Given the description of an element on the screen output the (x, y) to click on. 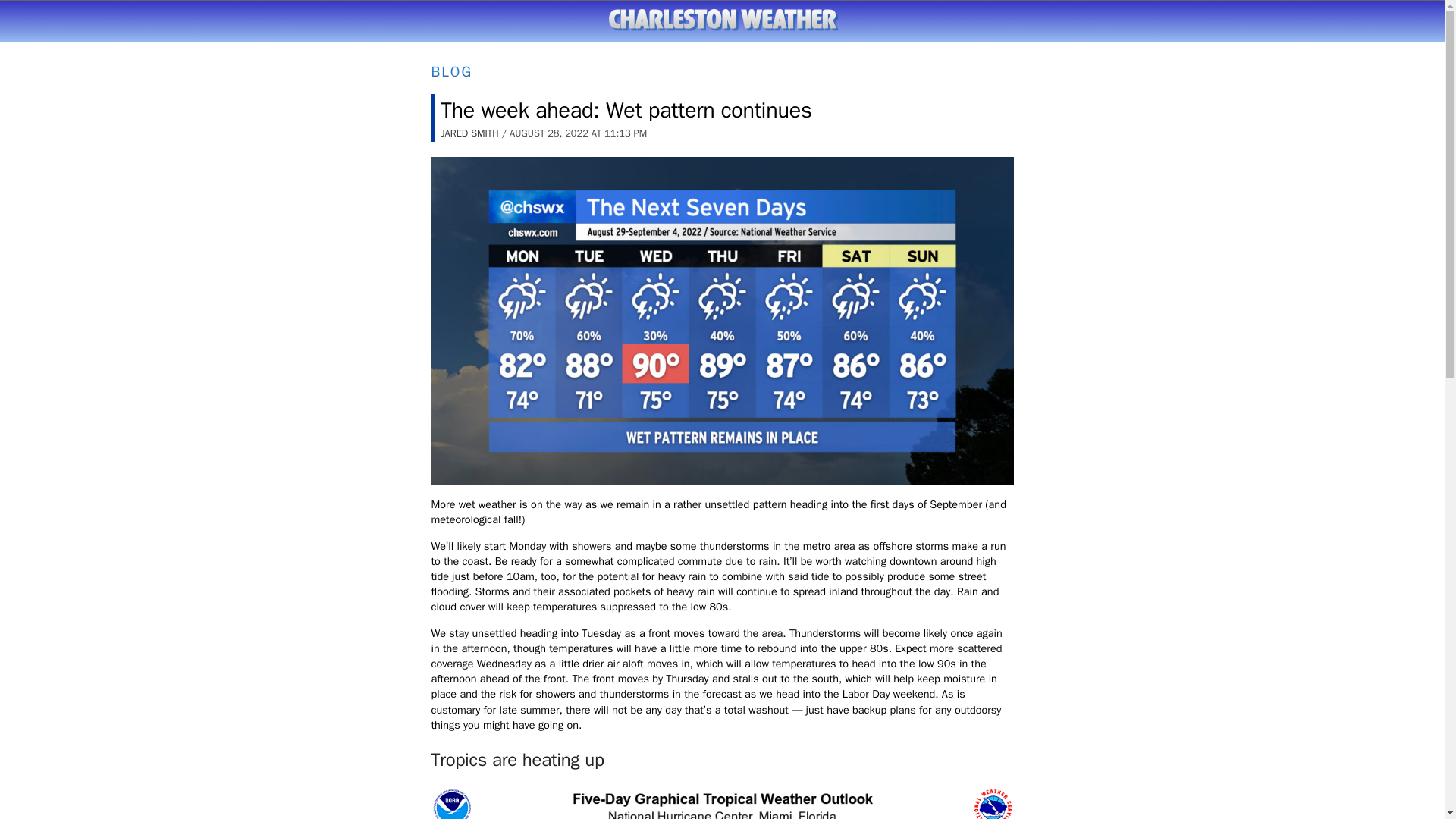
Posts by Jared Smith (470, 133)
BLOG (450, 72)
Charleston Weather (721, 20)
Charleston Weather (721, 20)
JARED SMITH (470, 133)
